Given the description of an element on the screen output the (x, y) to click on. 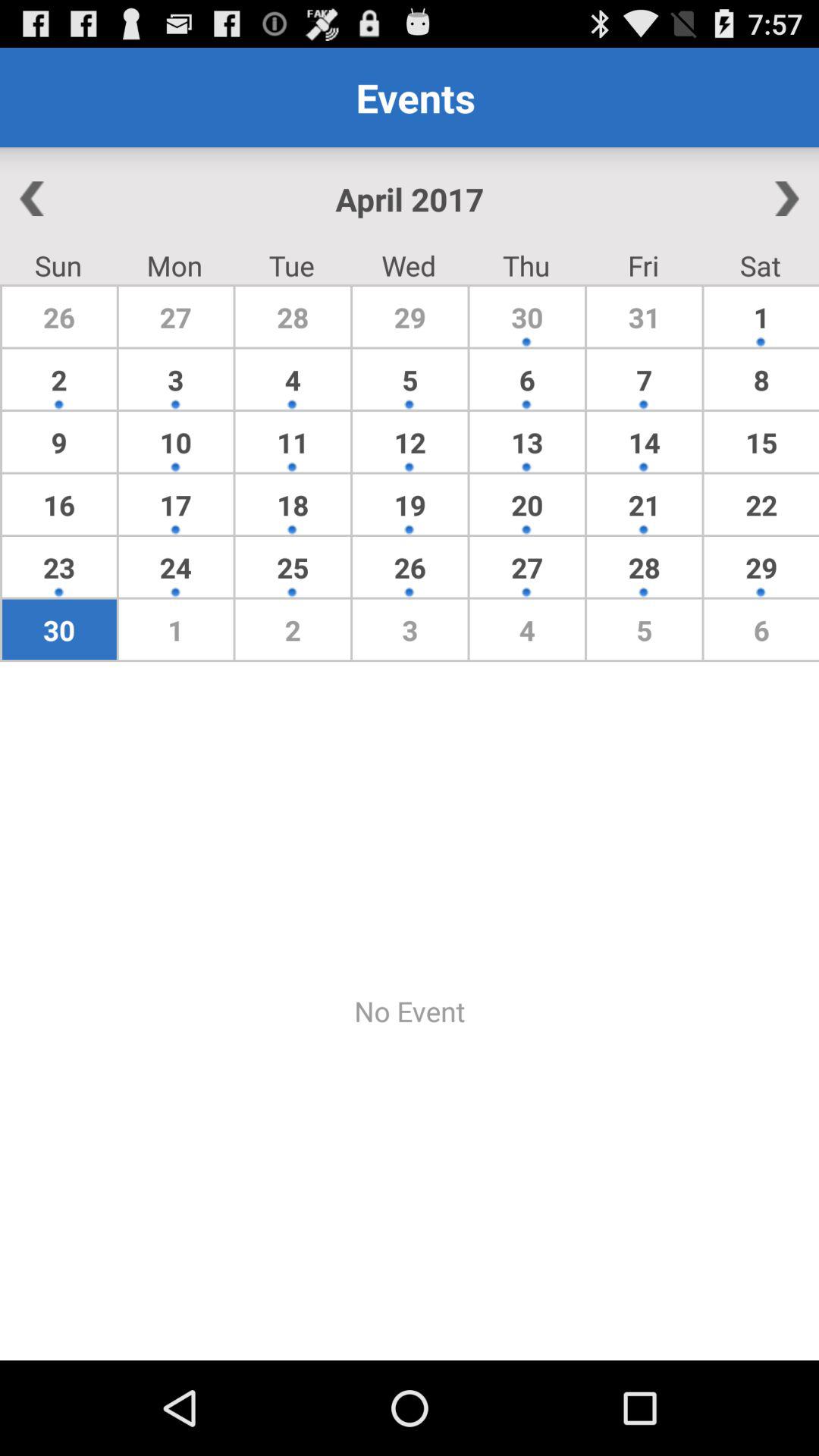
jump until 22 icon (761, 504)
